Given the description of an element on the screen output the (x, y) to click on. 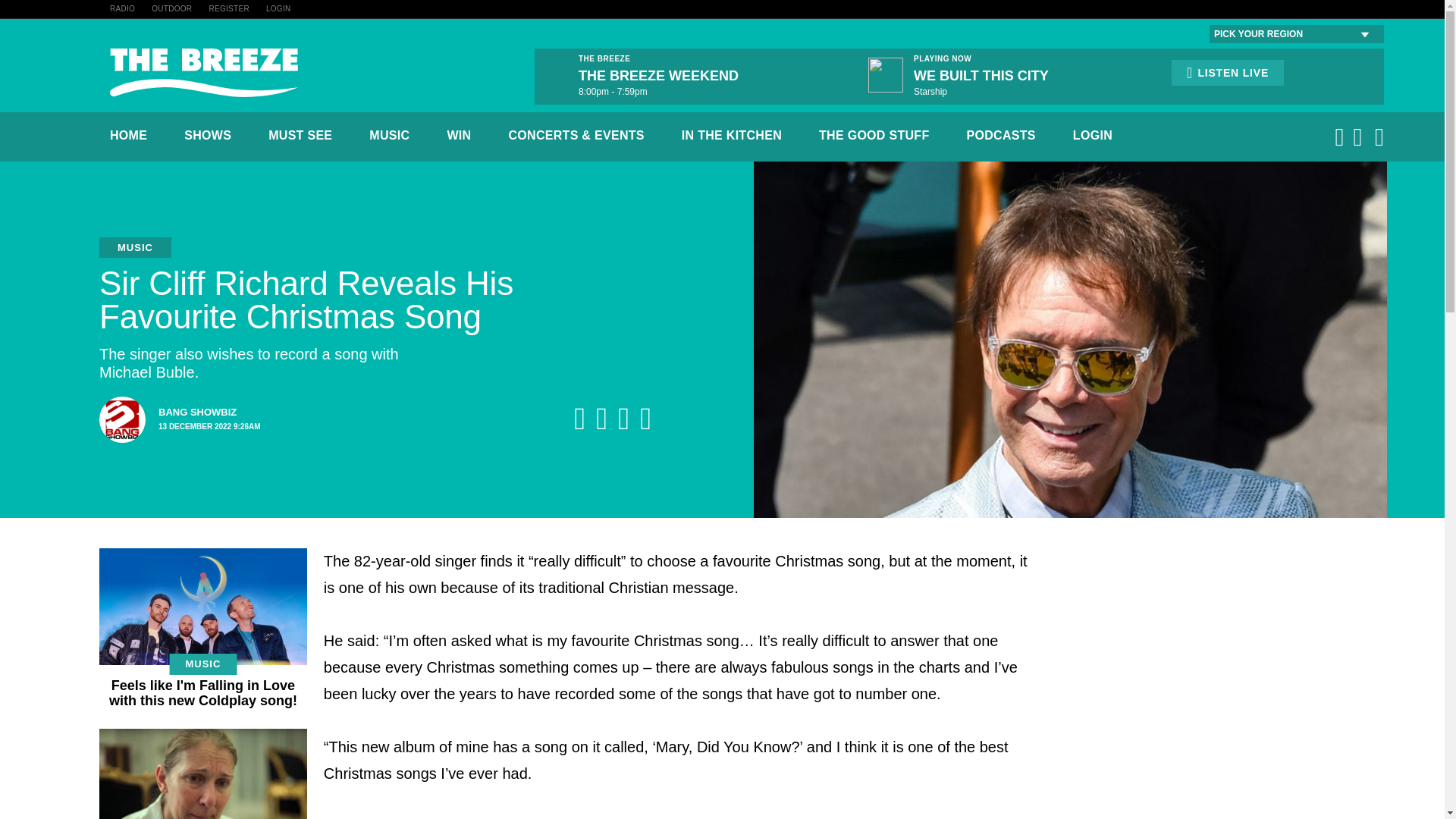
MUSIC (389, 134)
RADIO (122, 8)
IN THE KITCHEN (731, 134)
REGISTER (228, 8)
LOGIN (1092, 134)
PODCASTS (1000, 134)
MUSIC (201, 663)
WIN (458, 134)
HOME (128, 134)
LOGIN (278, 8)
SHOWS (207, 134)
Feels like I'm Falling in Love with this new Coldplay song! (203, 693)
THE GOOD STUFF (237, 419)
OUTDOOR (874, 134)
